Given the description of an element on the screen output the (x, y) to click on. 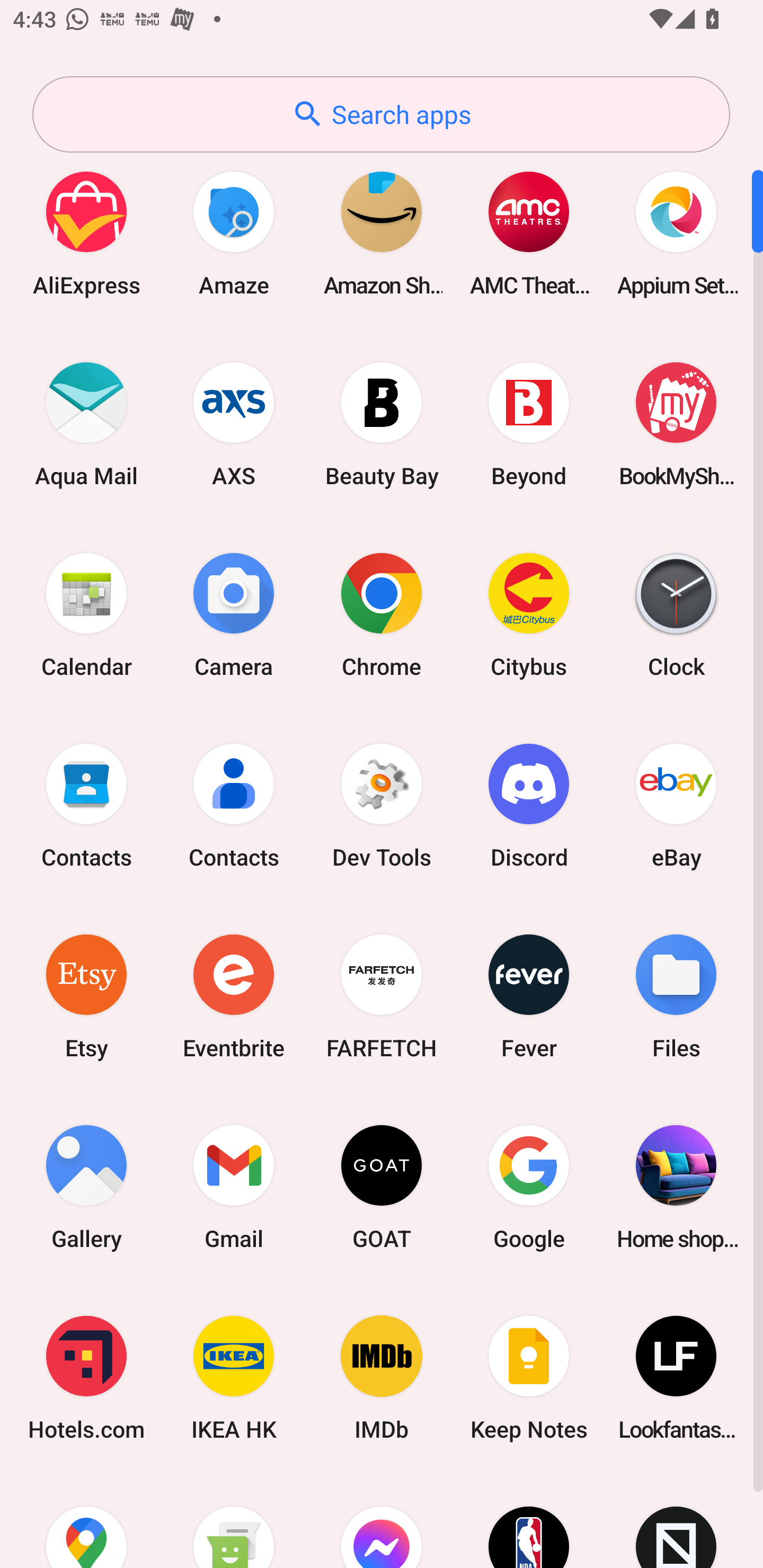
  Search apps (381, 114)
AliExpress (86, 233)
Amaze (233, 233)
Amazon Shopping (381, 233)
AMC Theatres (528, 233)
Appium Settings (676, 233)
Aqua Mail (86, 424)
AXS (233, 424)
Beauty Bay (381, 424)
Beyond (528, 424)
BookMyShow (676, 424)
Calendar (86, 614)
Camera (233, 614)
Chrome (381, 614)
Citybus (528, 614)
Clock (676, 614)
Contacts (86, 805)
Contacts (233, 805)
Dev Tools (381, 805)
Discord (528, 805)
eBay (676, 805)
Etsy (86, 996)
Eventbrite (233, 996)
FARFETCH (381, 996)
Fever (528, 996)
Files (676, 996)
Gallery (86, 1186)
Gmail (233, 1186)
GOAT (381, 1186)
Google (528, 1186)
Home shopping (676, 1186)
Hotels.com (86, 1377)
IKEA HK (233, 1377)
IMDb (381, 1377)
Keep Notes (528, 1377)
Lookfantastic (676, 1377)
Maps (86, 1520)
Messaging (233, 1520)
Messenger (381, 1520)
NBA (528, 1520)
Novelship (676, 1520)
